Given the description of an element on the screen output the (x, y) to click on. 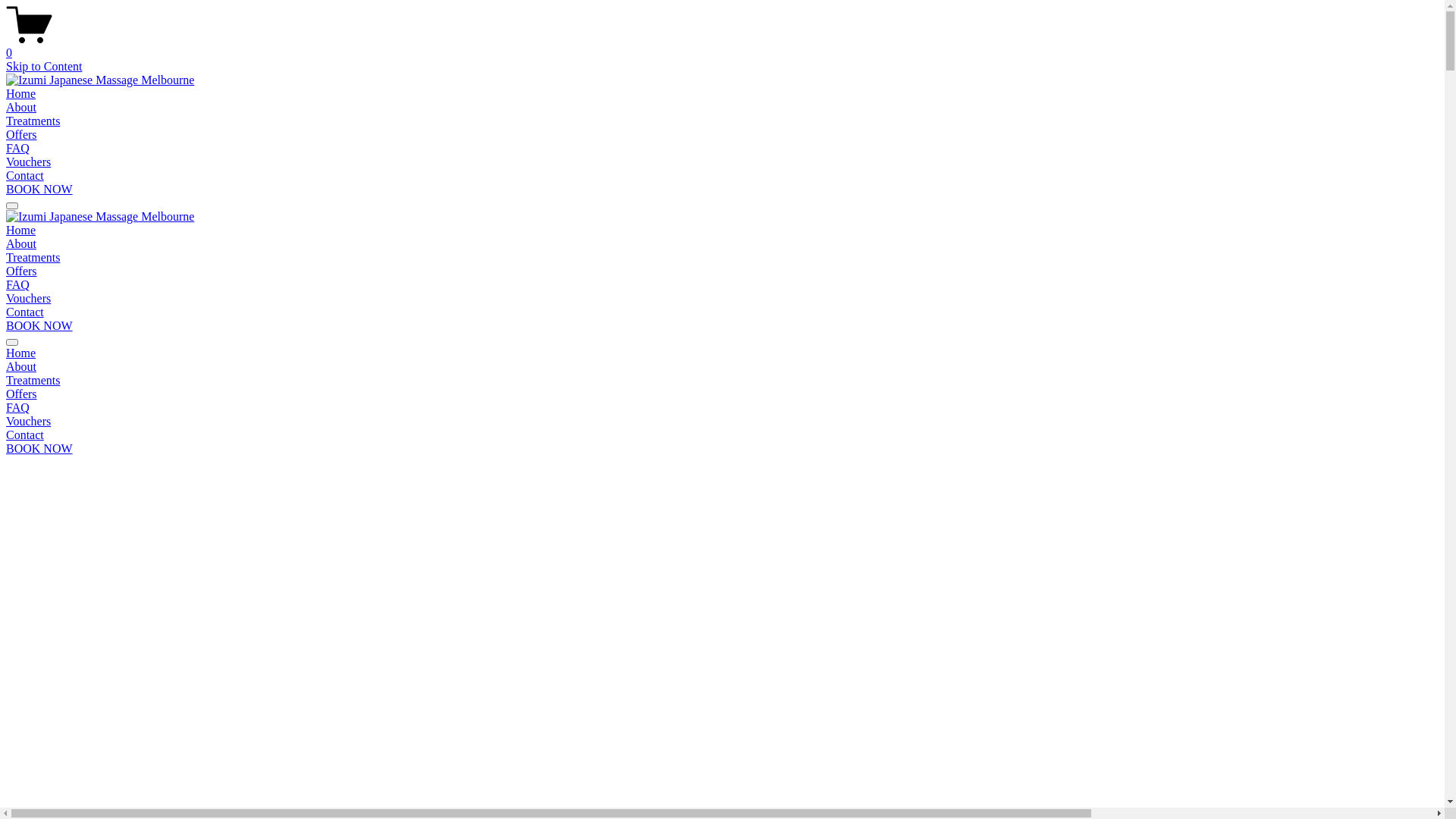
Home Element type: text (20, 93)
Vouchers Element type: text (28, 297)
FAQ Element type: text (17, 284)
Home Element type: text (722, 353)
About Element type: text (722, 366)
Home Element type: text (20, 229)
FAQ Element type: text (17, 147)
Offers Element type: text (722, 394)
Treatments Element type: text (722, 380)
Contact Element type: text (24, 175)
About Element type: text (21, 106)
Offers Element type: text (21, 270)
Offers Element type: text (21, 134)
About Element type: text (21, 243)
BOOK NOW Element type: text (39, 188)
Contact Element type: text (24, 311)
Treatments Element type: text (32, 120)
Vouchers Element type: text (28, 161)
Vouchers Element type: text (722, 421)
BOOK NOW Element type: text (39, 325)
FAQ Element type: text (722, 407)
BOOK NOW Element type: text (39, 448)
Skip to Content Element type: text (43, 65)
0 Element type: text (722, 45)
Contact Element type: text (722, 435)
Treatments Element type: text (32, 257)
